Given the description of an element on the screen output the (x, y) to click on. 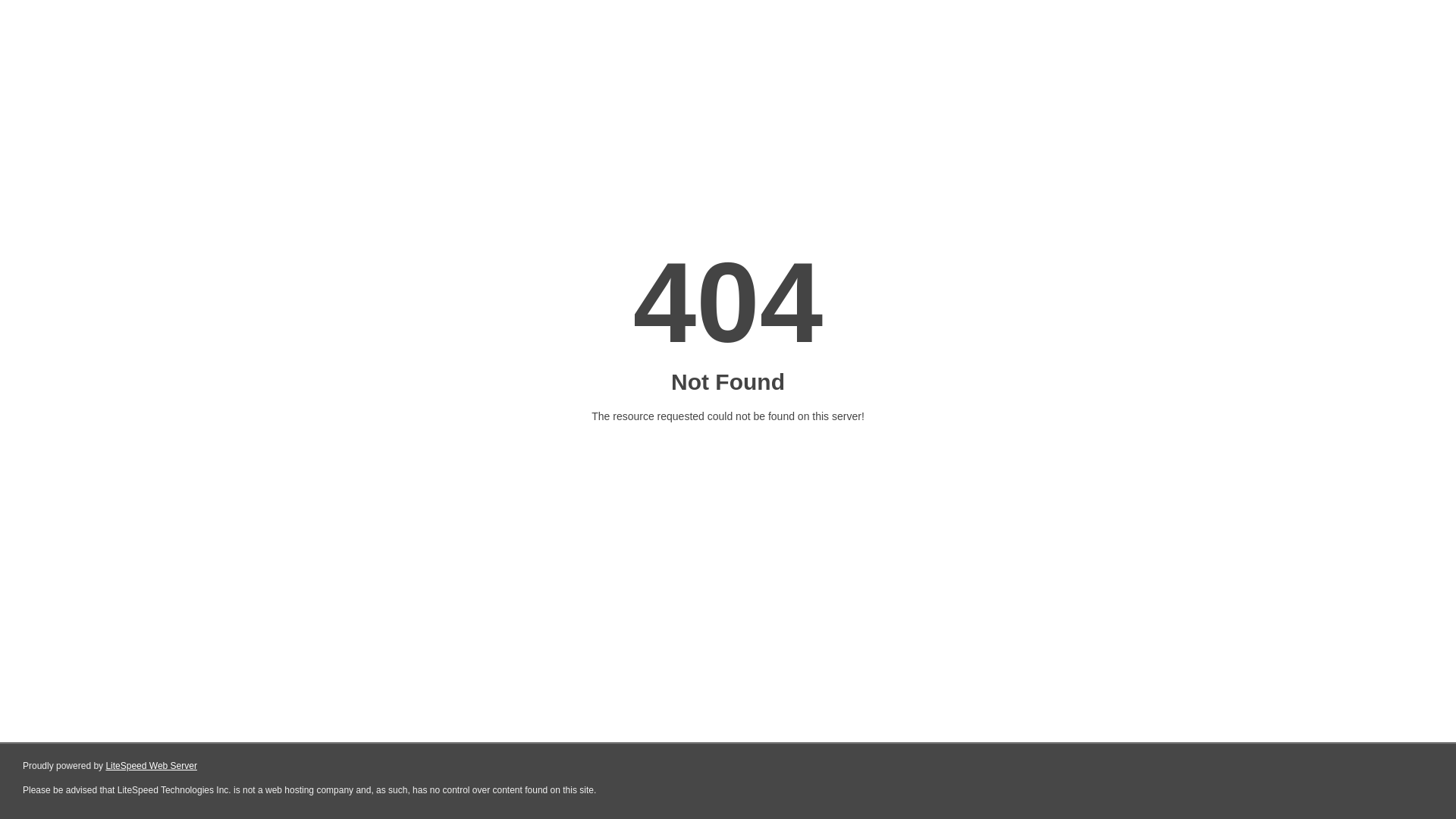
LiteSpeed Web Server Element type: text (151, 765)
